Given the description of an element on the screen output the (x, y) to click on. 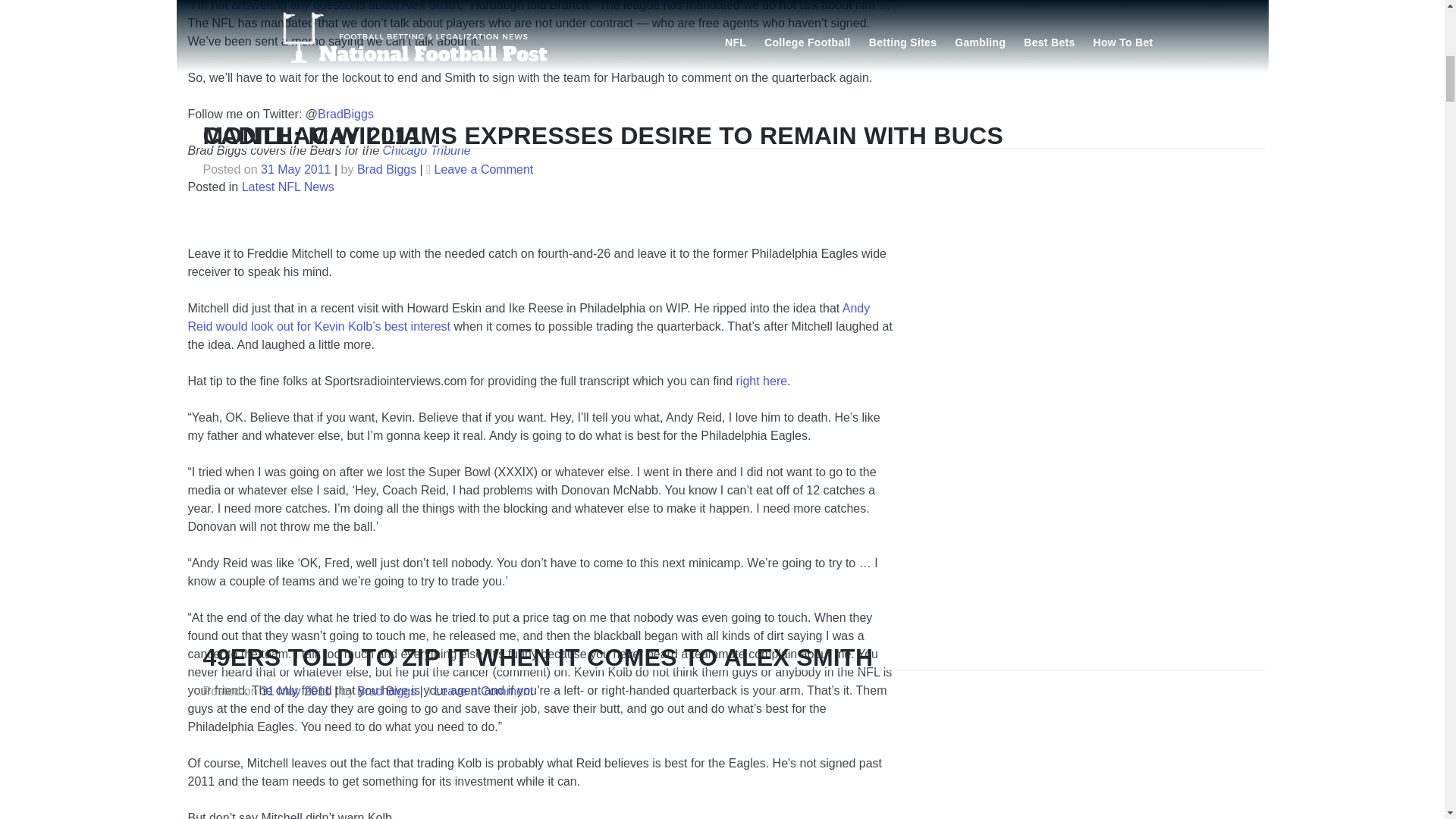
Chicago Tribune (426, 150)
right here (761, 380)
BradBiggs (345, 113)
FREDDIE MITCHELL WARNS KEVIN KOLB ON REALITY IN PHILADELPHIA (639, 268)
Latest NFL News (287, 186)
31 May 2011 (295, 302)
Brad Biggs (386, 302)
